Given the description of an element on the screen output the (x, y) to click on. 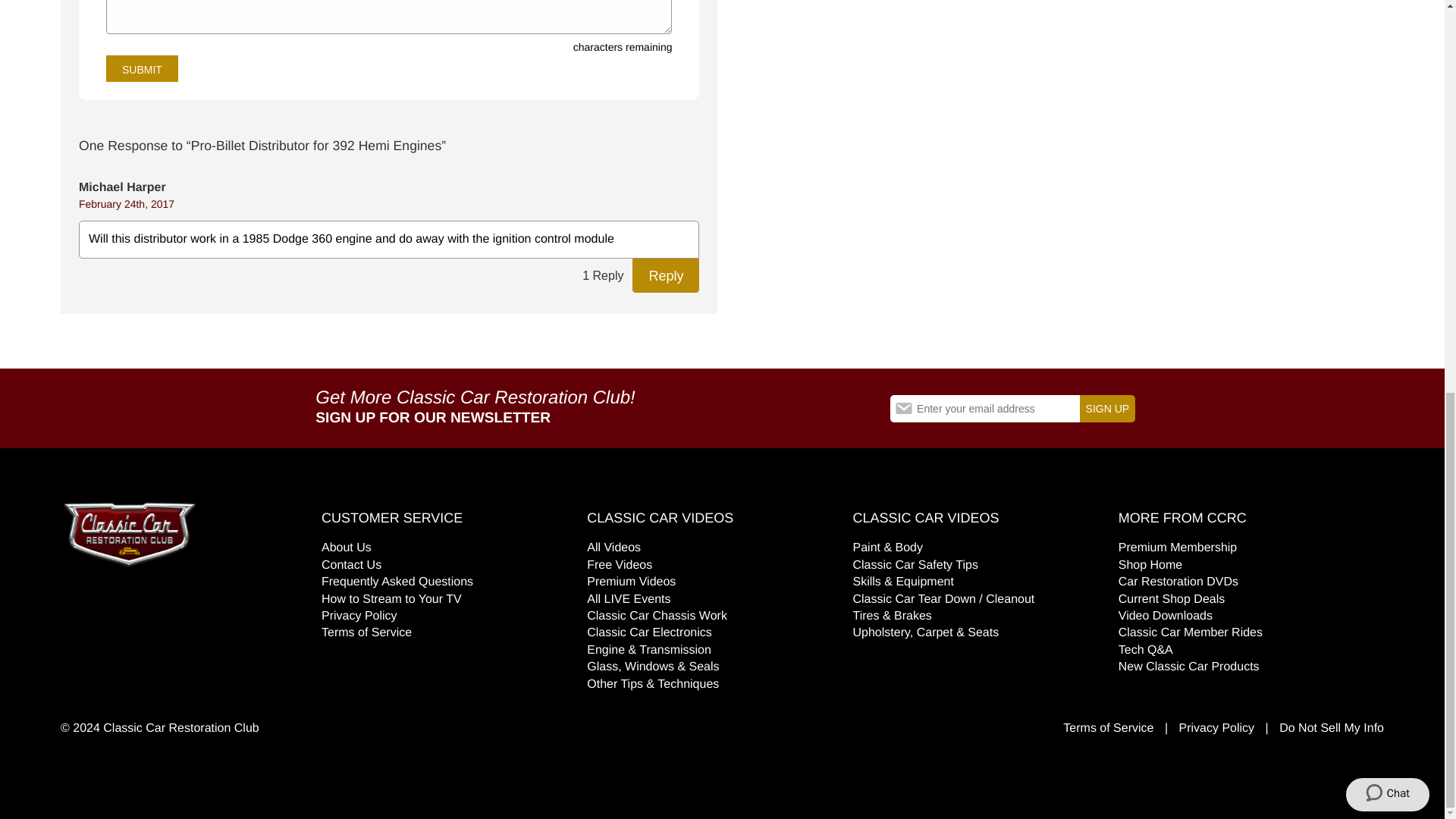
Frequently Asked Questions (397, 581)
Submit (141, 68)
Sign Up (1107, 408)
How to Stream to Your TV (391, 599)
Privacy Policy (359, 615)
Sign Up (1107, 408)
Reply (664, 275)
1 Reply (602, 275)
Submit (141, 68)
About Us (346, 547)
Contact Us (351, 564)
